Given the description of an element on the screen output the (x, y) to click on. 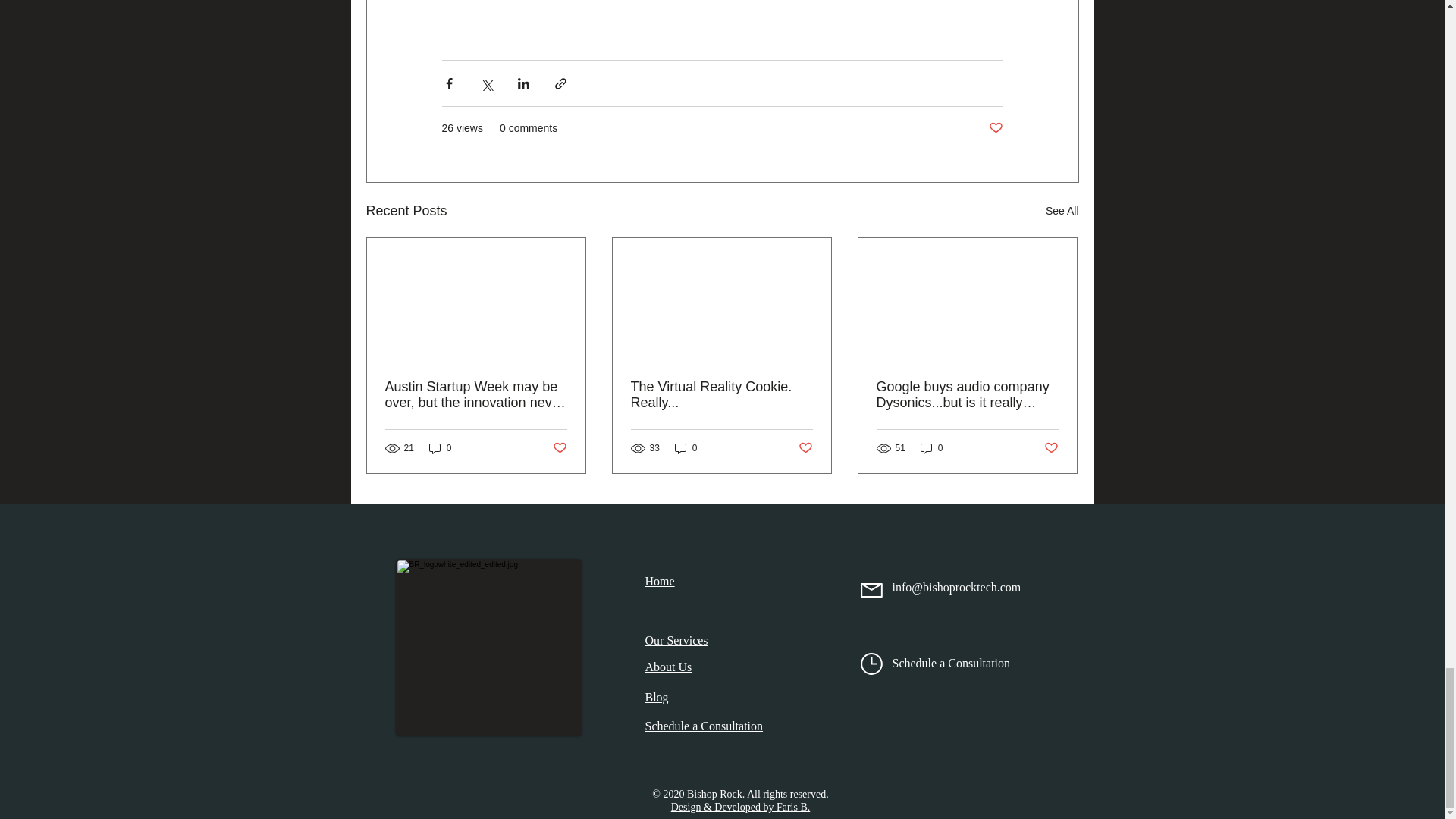
Post not marked as liked (995, 128)
About Us (668, 666)
Blog (656, 697)
Post not marked as liked (1050, 448)
0 (931, 448)
Our Services (676, 640)
Schedule a Consultation (950, 662)
Post not marked as liked (558, 448)
Schedule a Consultation (703, 725)
